Given the description of an element on the screen output the (x, y) to click on. 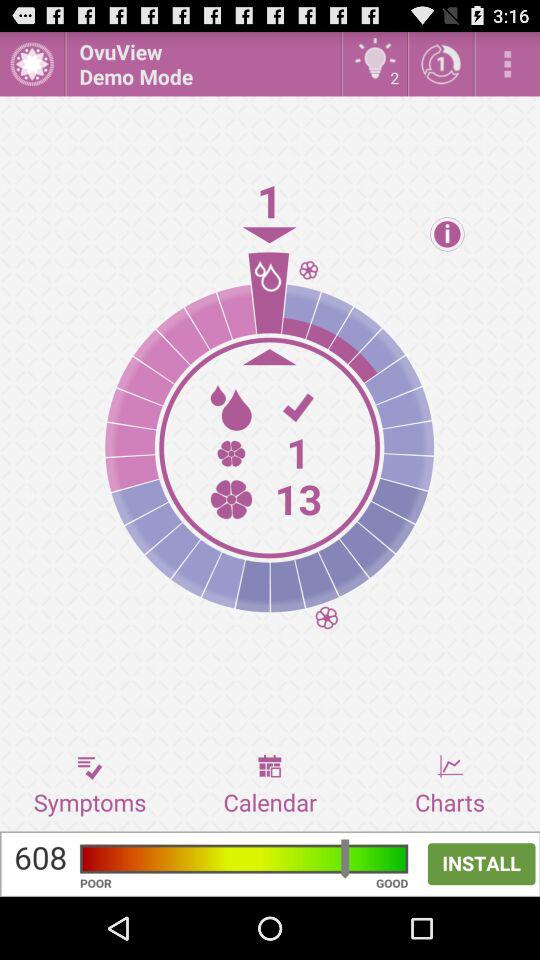
select advertisement (270, 864)
